Given the description of an element on the screen output the (x, y) to click on. 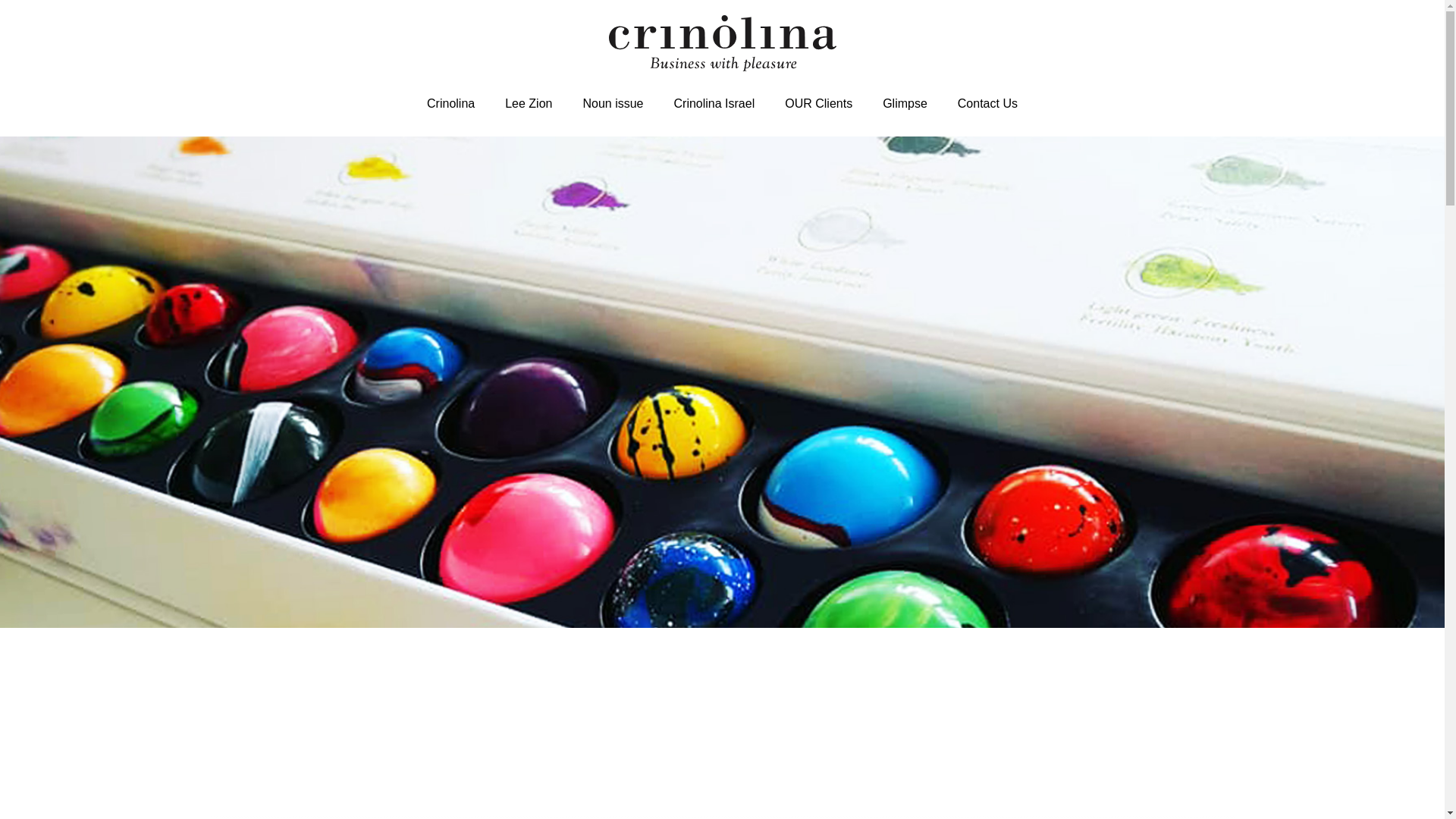
Crinolina (450, 103)
Crinolina Israel (714, 103)
Contact Us (987, 103)
Glimpse (904, 103)
OUR Clients (818, 103)
Lee Zion (528, 103)
Noun issue (612, 103)
